Given the description of an element on the screen output the (x, y) to click on. 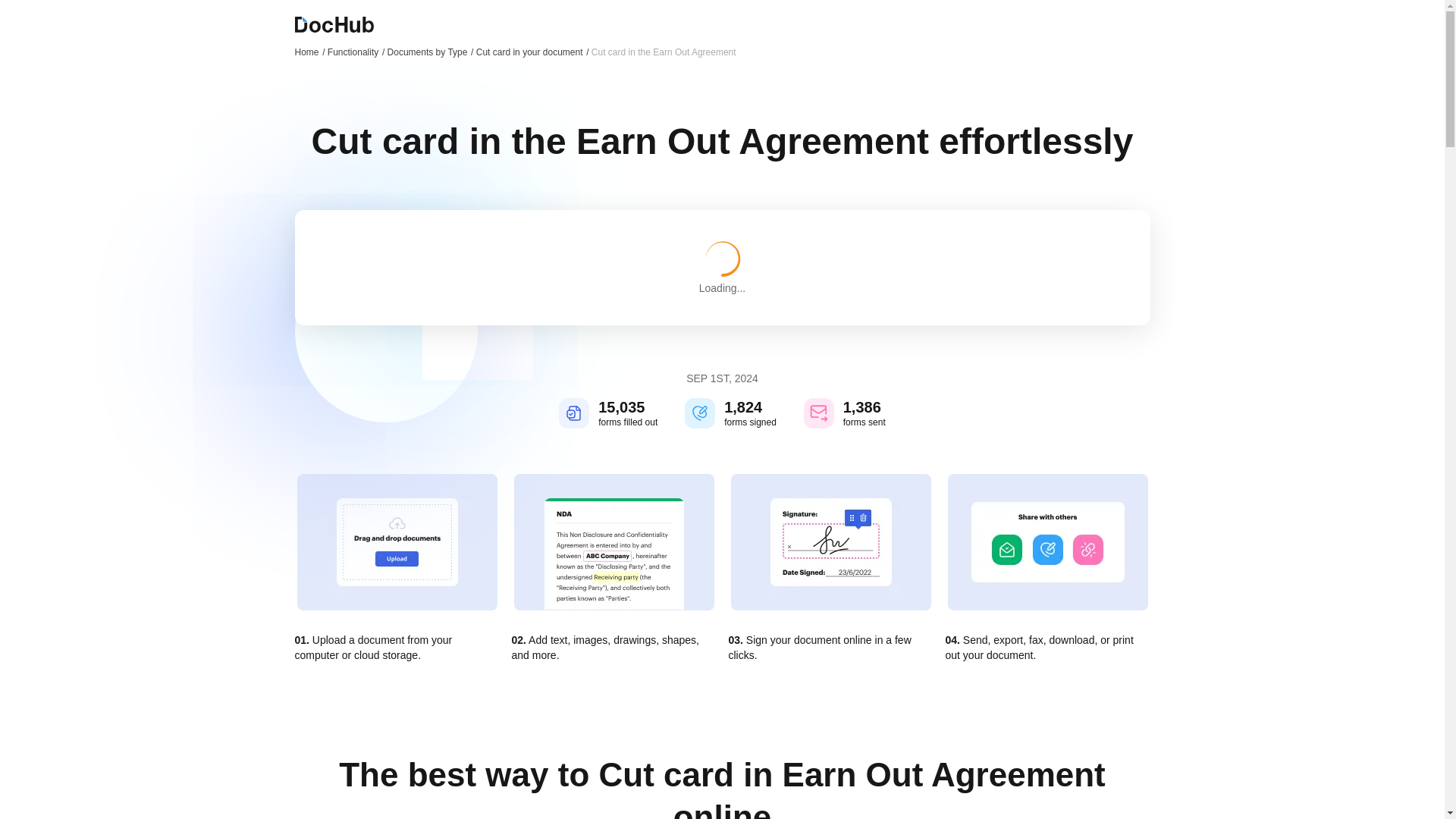
Cut card in your document (532, 51)
Documents by Type (430, 51)
Functionality (355, 51)
Home (309, 51)
